Given the description of an element on the screen output the (x, y) to click on. 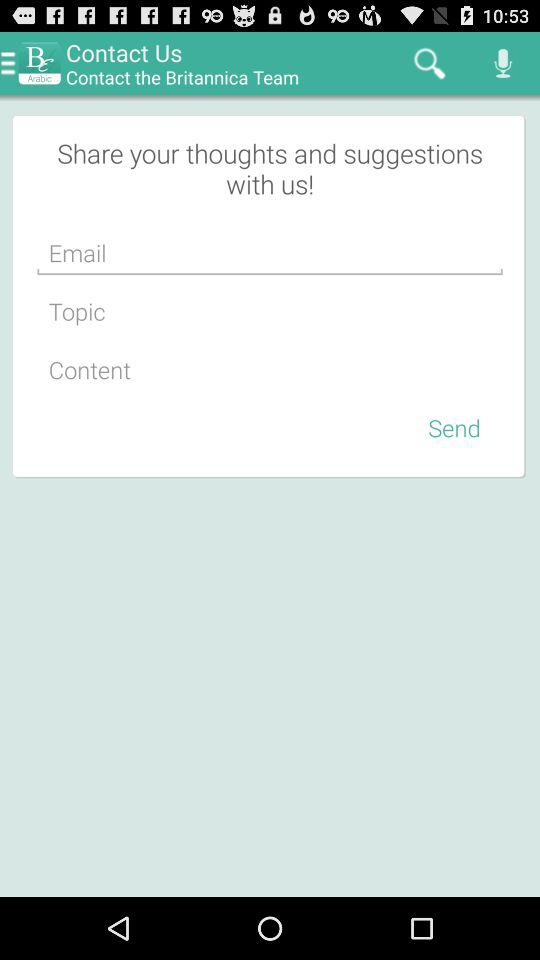
add content (270, 370)
